Given the description of an element on the screen output the (x, y) to click on. 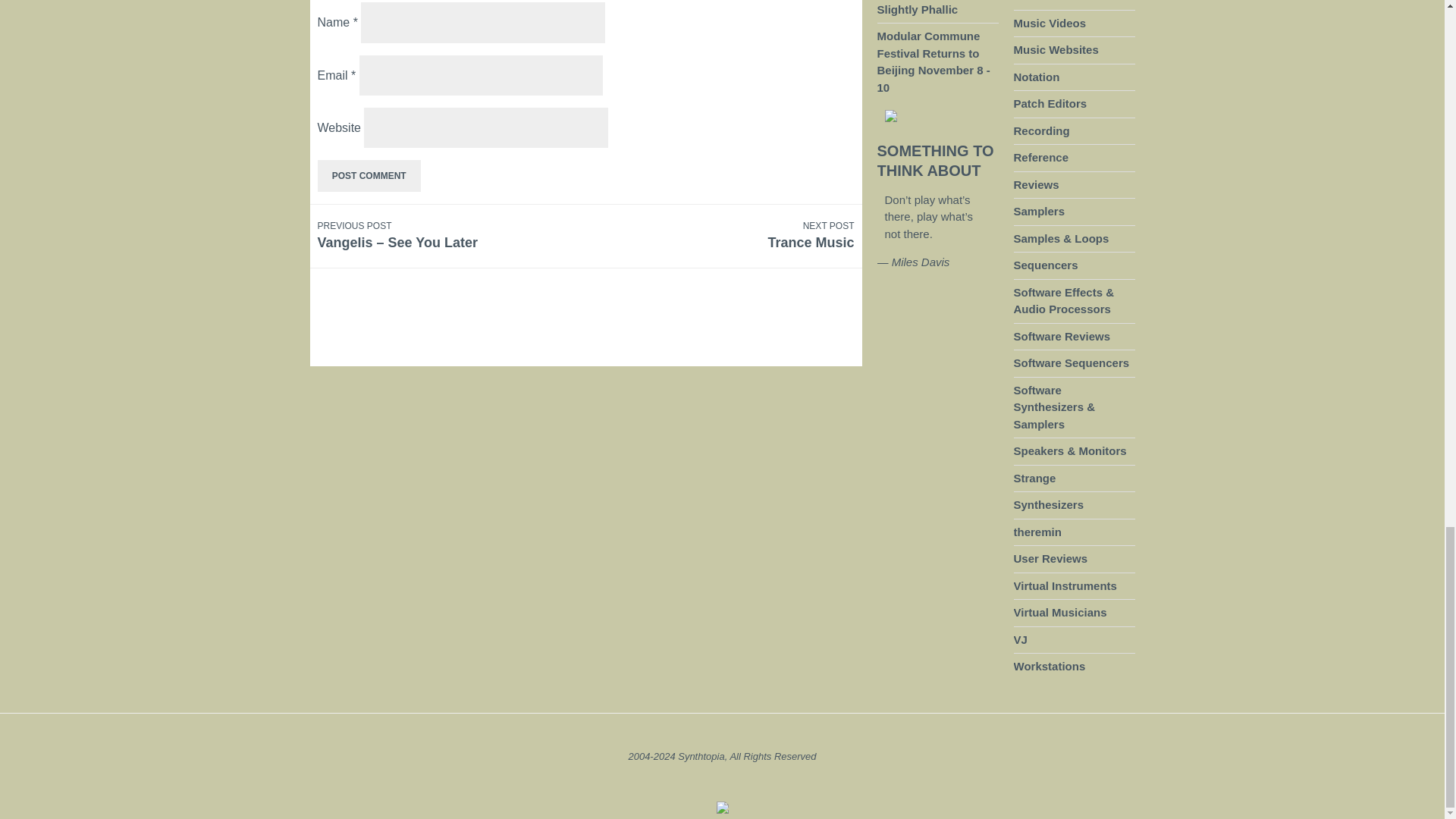
Gear and software reviews by Synthtopia readers. (729, 235)
Post Comment (1050, 558)
Post Comment (368, 175)
